Given the description of an element on the screen output the (x, y) to click on. 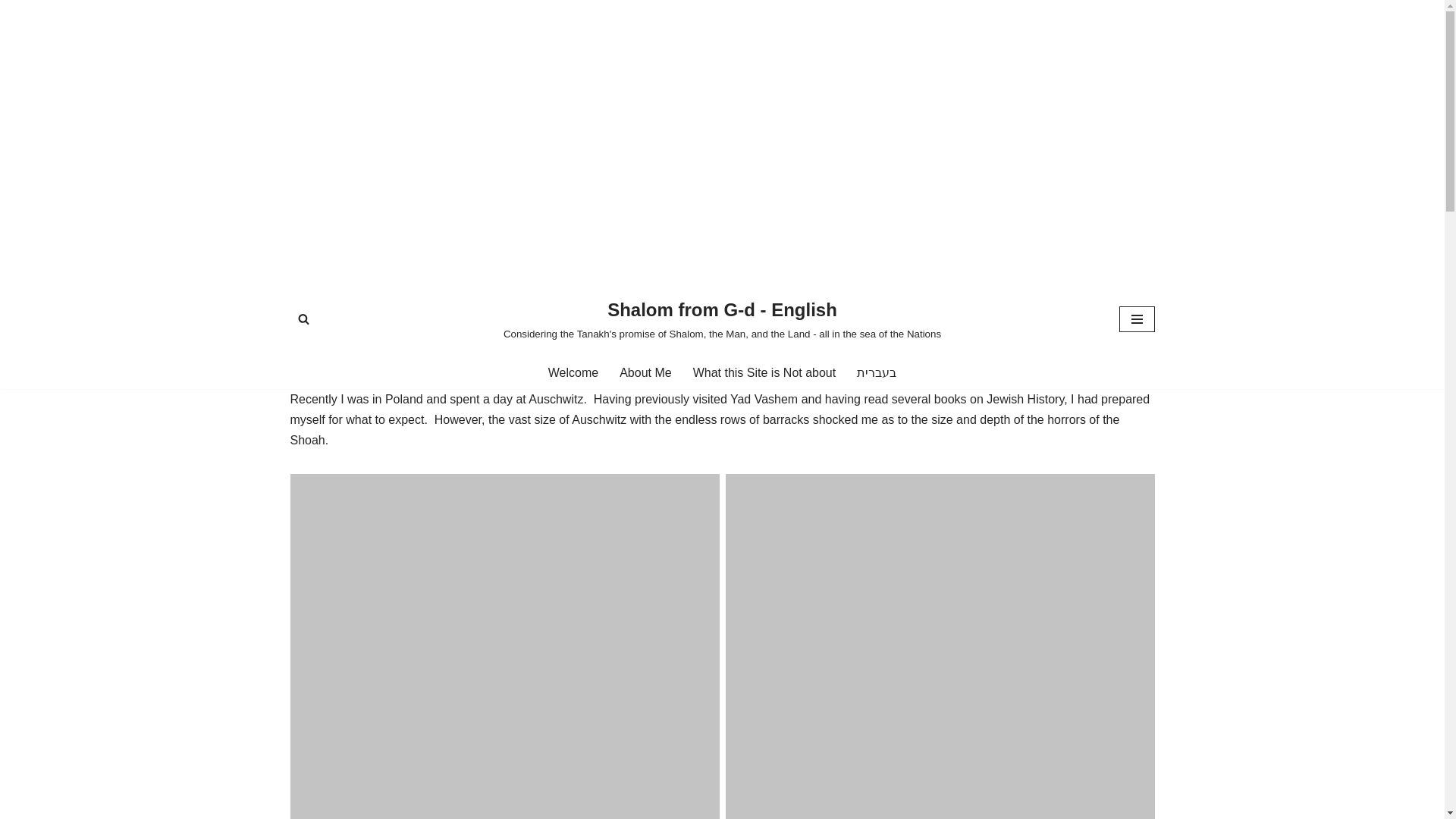
Navigation Menu (1136, 319)
Skip to content (11, 31)
What this Site is Not about (764, 372)
About Me (645, 372)
Welcome (573, 372)
